Given the description of an element on the screen output the (x, y) to click on. 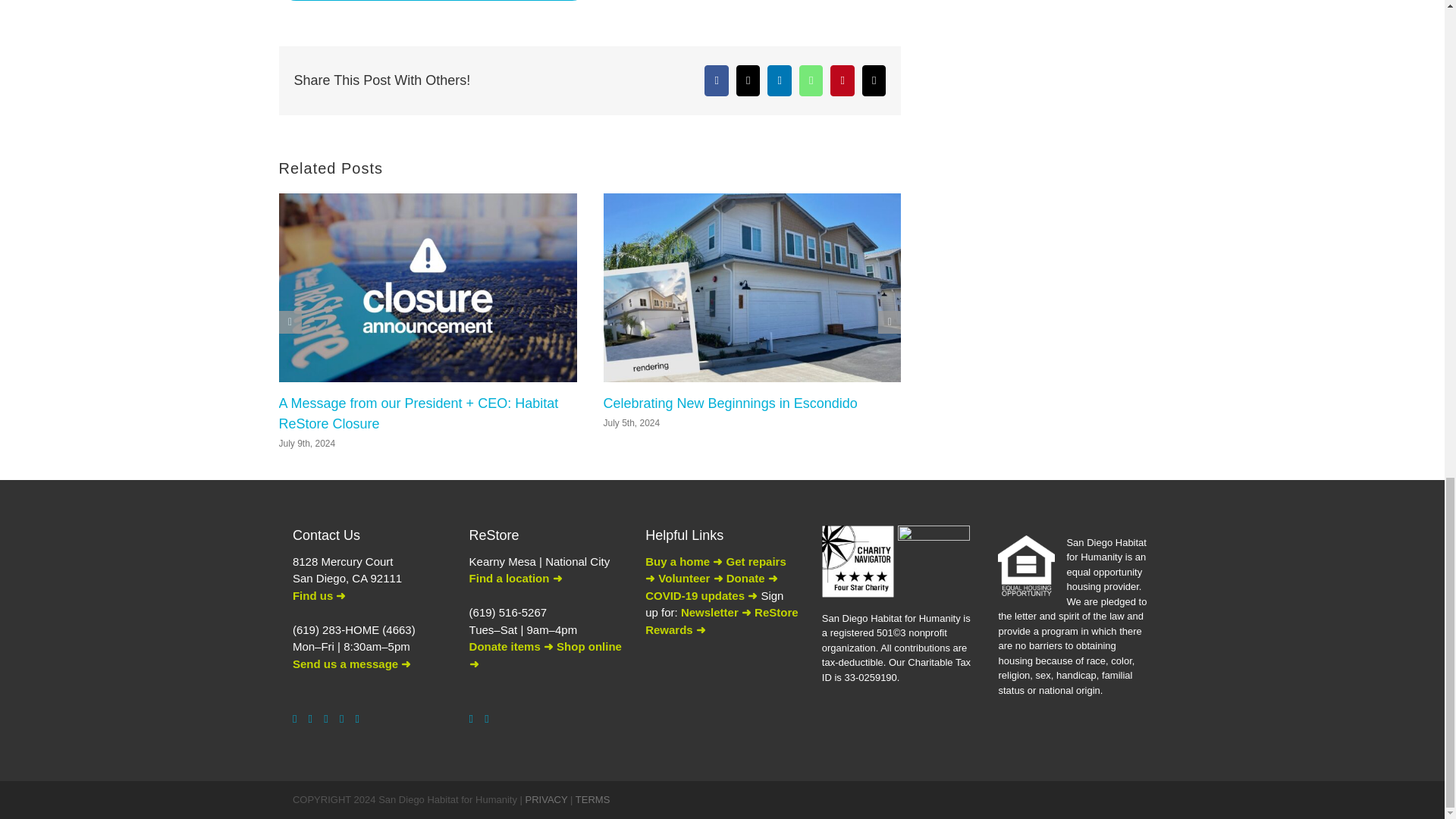
Celebrating New Beginnings in Escondido (730, 403)
